Given the description of an element on the screen output the (x, y) to click on. 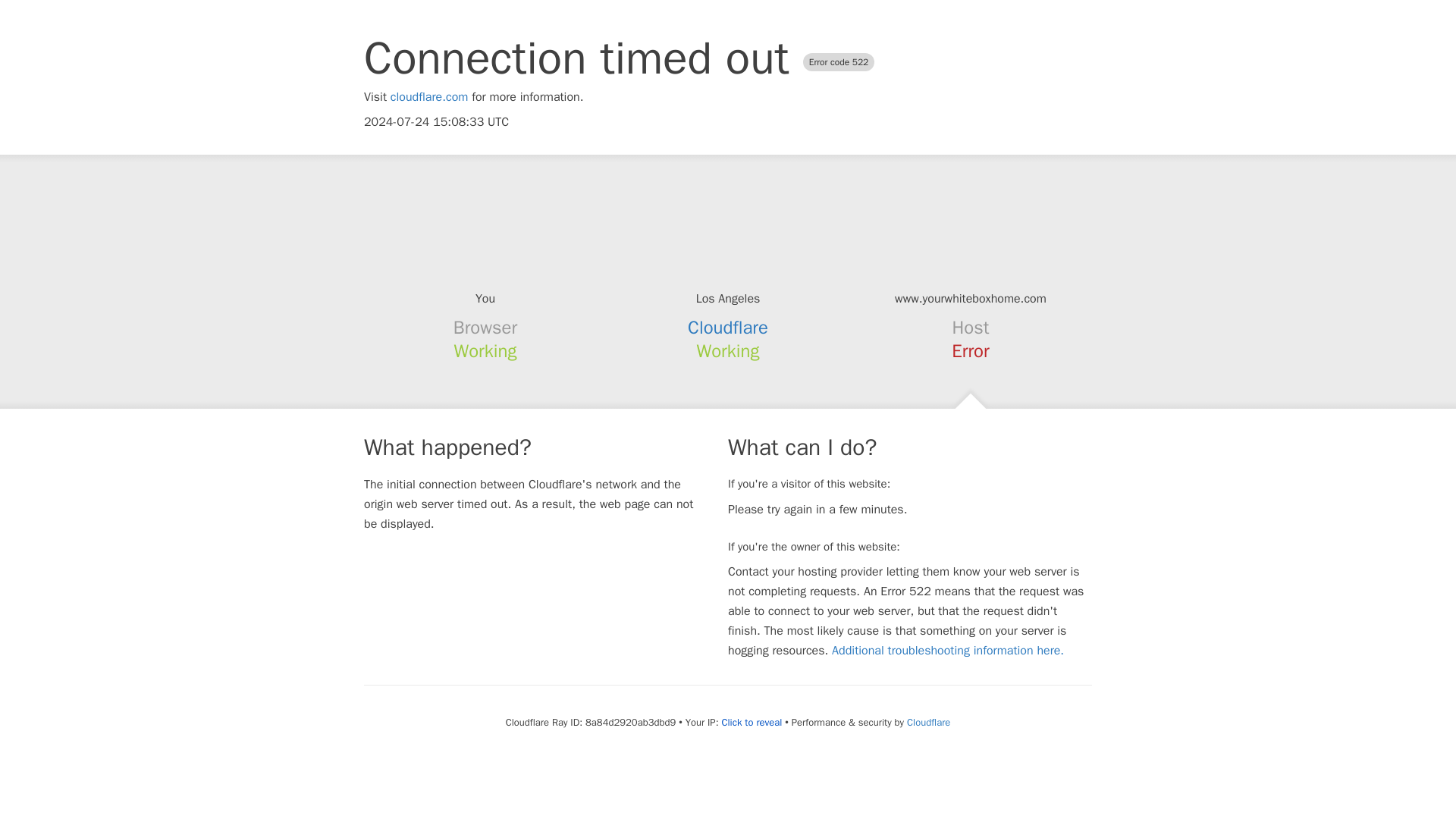
cloudflare.com (429, 96)
Cloudflare (727, 327)
Additional troubleshooting information here. (947, 650)
Click to reveal (750, 722)
Cloudflare (928, 721)
